Given the description of an element on the screen output the (x, y) to click on. 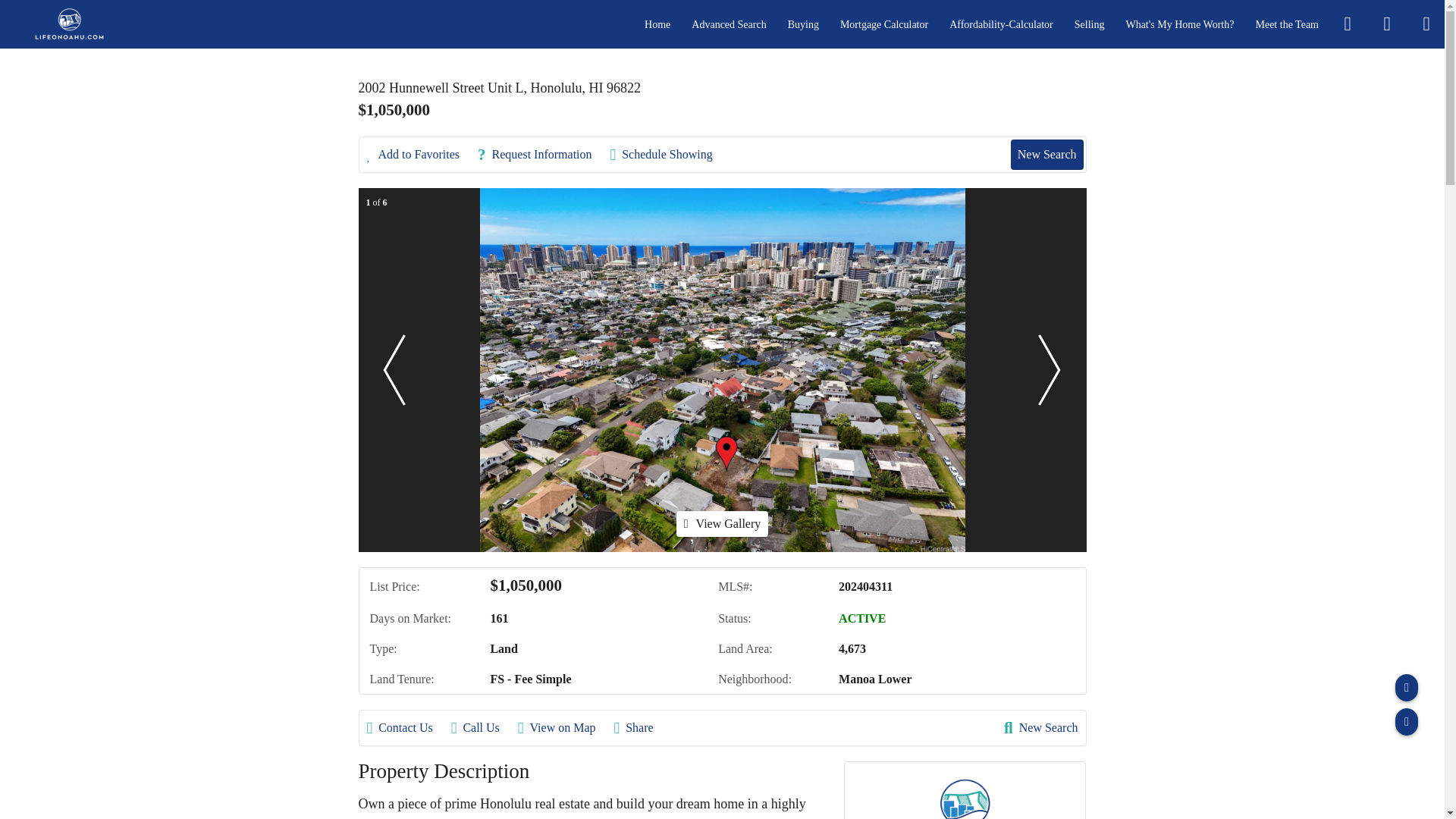
Schedule Showing (669, 154)
What's My Home Worth? (1179, 24)
View Gallery (722, 524)
Contact Us (407, 727)
Request Information (542, 154)
Home (657, 24)
View on Map (564, 727)
Selling (1089, 24)
New Search (1046, 154)
New Search (1040, 727)
